Given the description of an element on the screen output the (x, y) to click on. 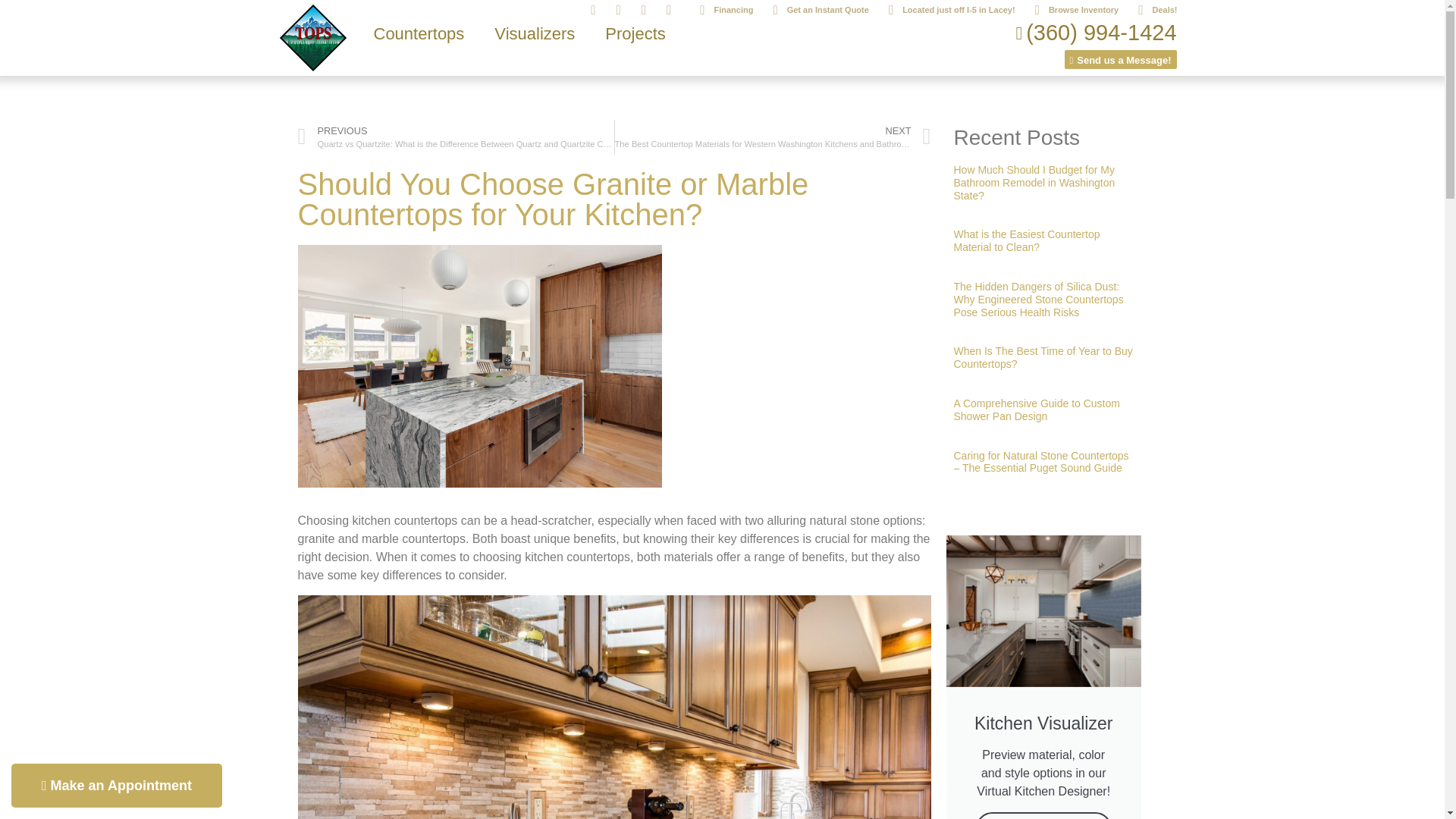
Projects (634, 33)
Financing (720, 10)
Send us a Message! (1114, 54)
Located just off I-5 in Lacey! (945, 10)
Get an Instant Quote (814, 10)
Browse Inventory (1071, 10)
Deals! (1151, 10)
Visualizers (534, 33)
Countertops (418, 33)
